Given the description of an element on the screen output the (x, y) to click on. 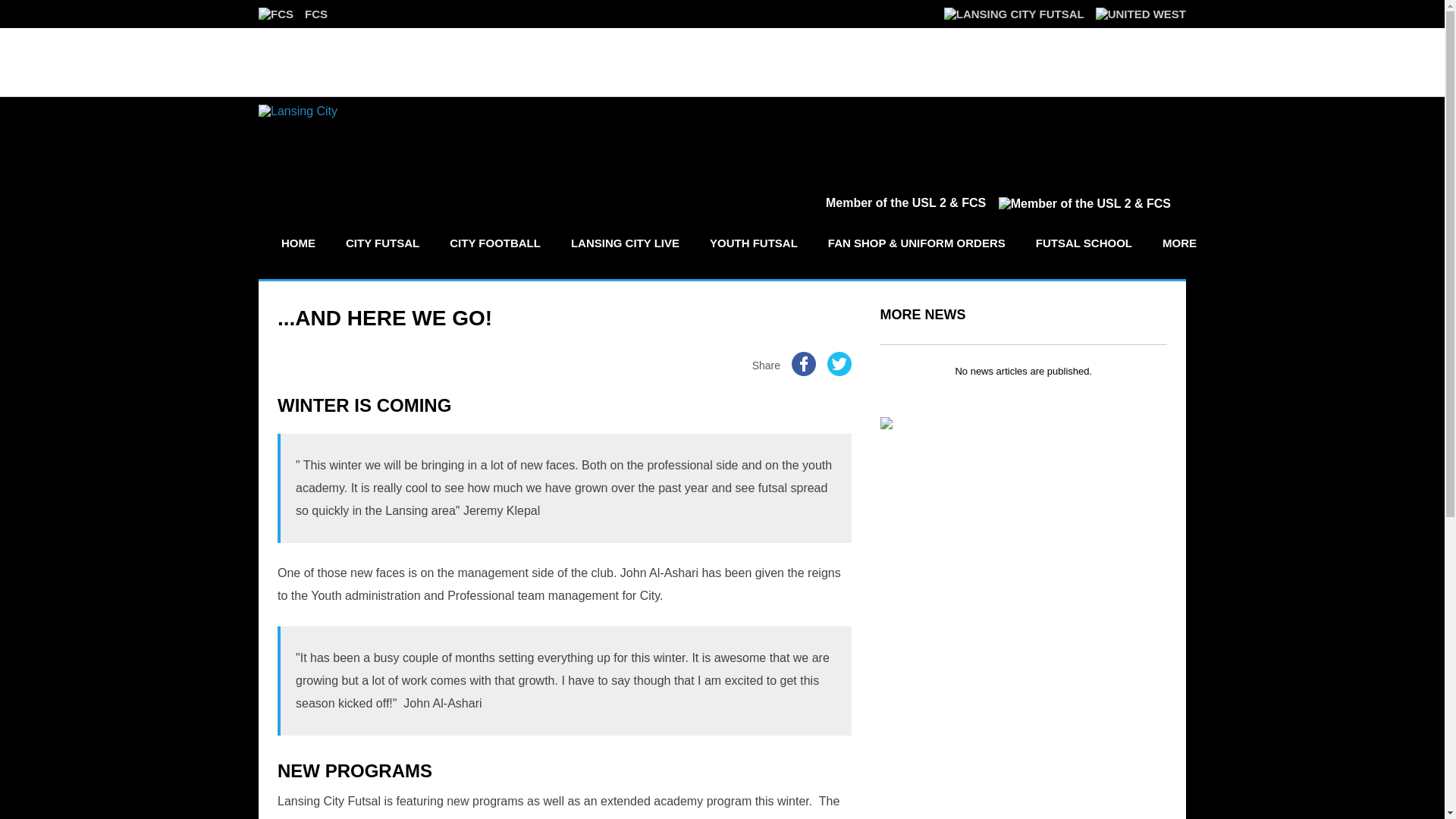
LANSING CITY LIVE (624, 242)
HOME (297, 242)
FUTSAL SCHOOL (1083, 242)
FCS (293, 13)
